Given the description of an element on the screen output the (x, y) to click on. 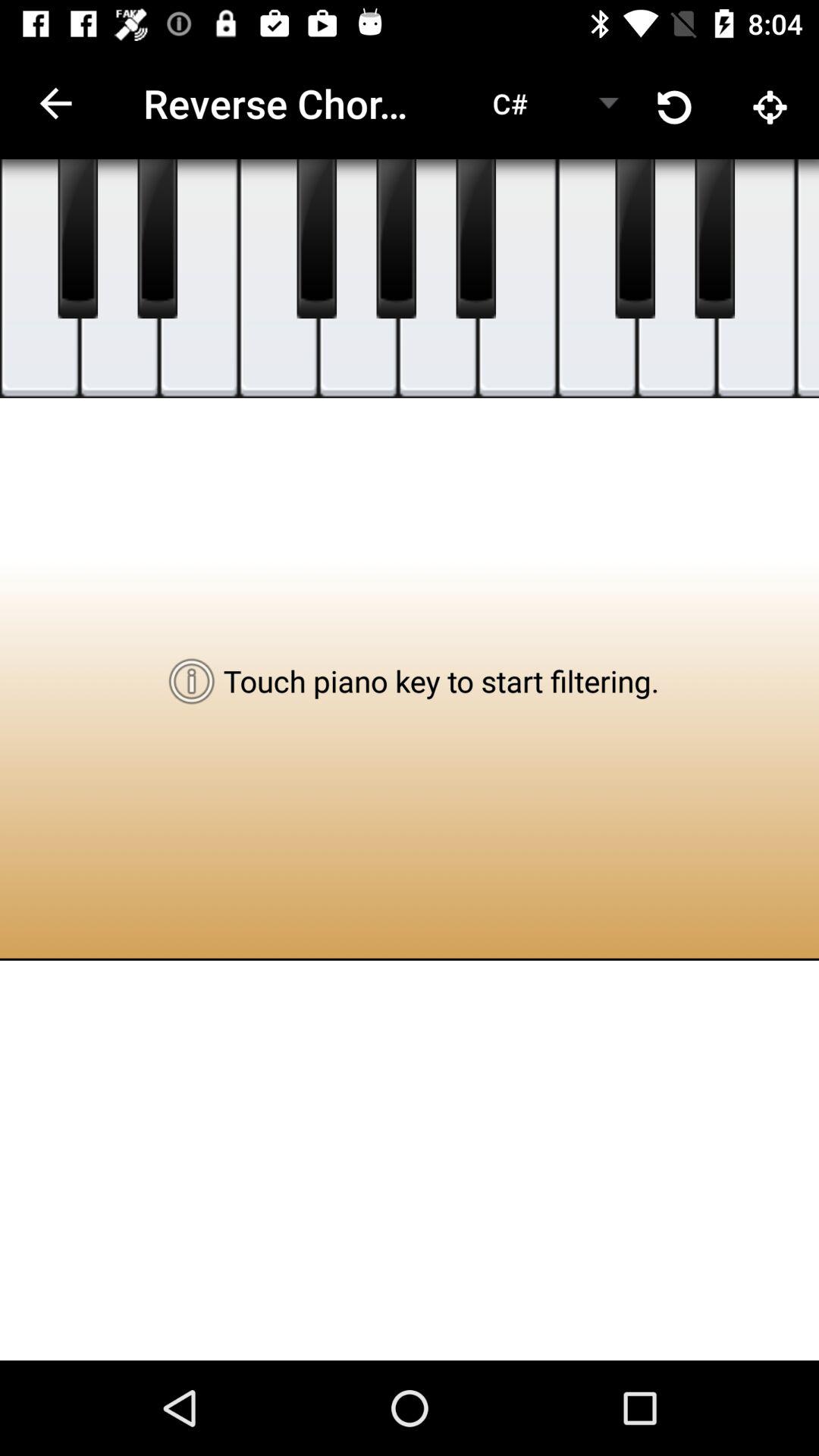
turn on the icon above the touch piano key icon (358, 278)
